Given the description of an element on the screen output the (x, y) to click on. 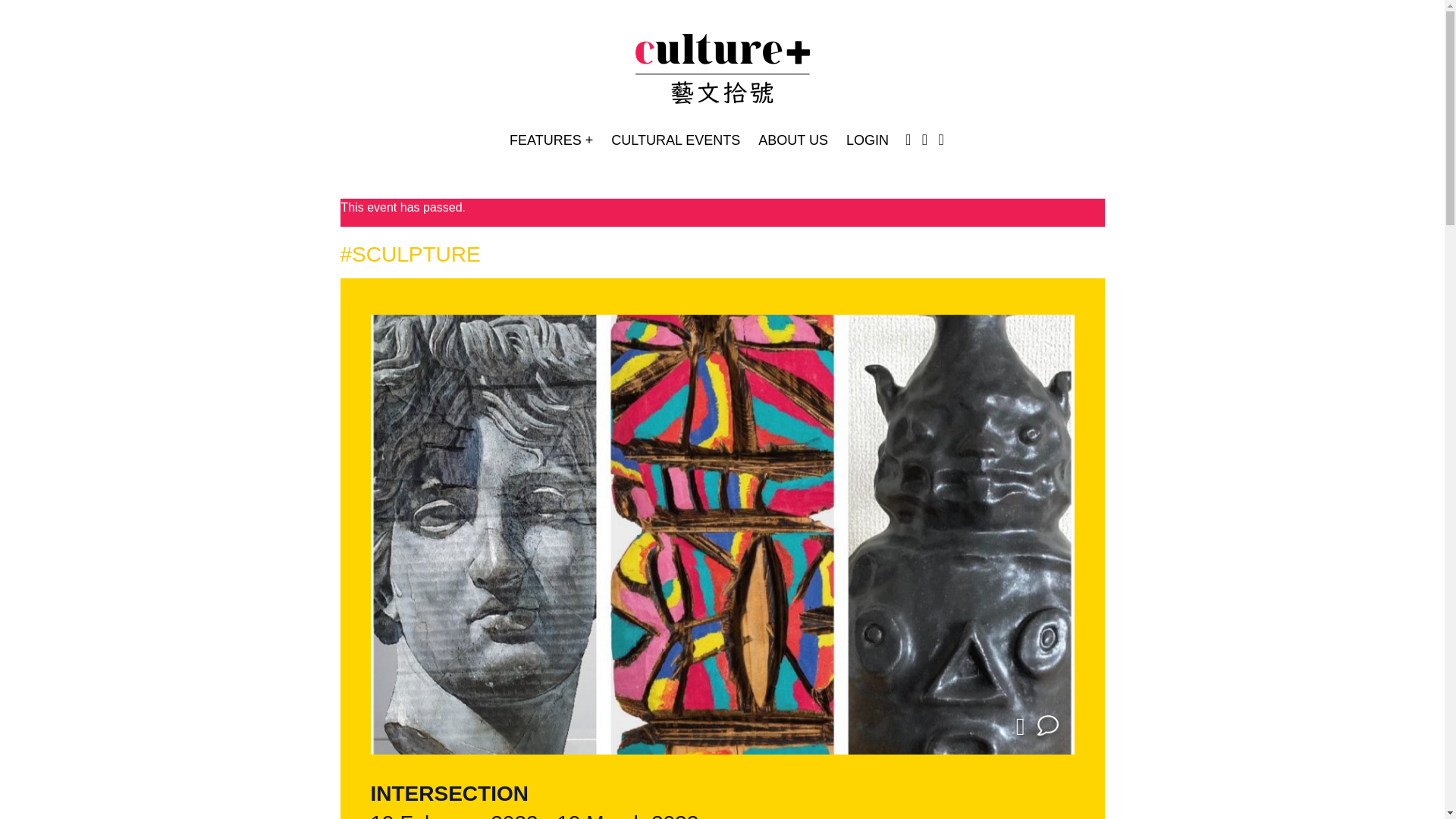
Youtube (941, 139)
CULTURAL EVENTS (675, 140)
ABOUT US (793, 140)
Facebook (924, 140)
Youtube (941, 140)
LOGIN (867, 140)
Culture Plus (721, 71)
Instagram (908, 140)
Facebook (924, 139)
SCULPTURE (409, 254)
Instagram (908, 139)
